Given the description of an element on the screen output the (x, y) to click on. 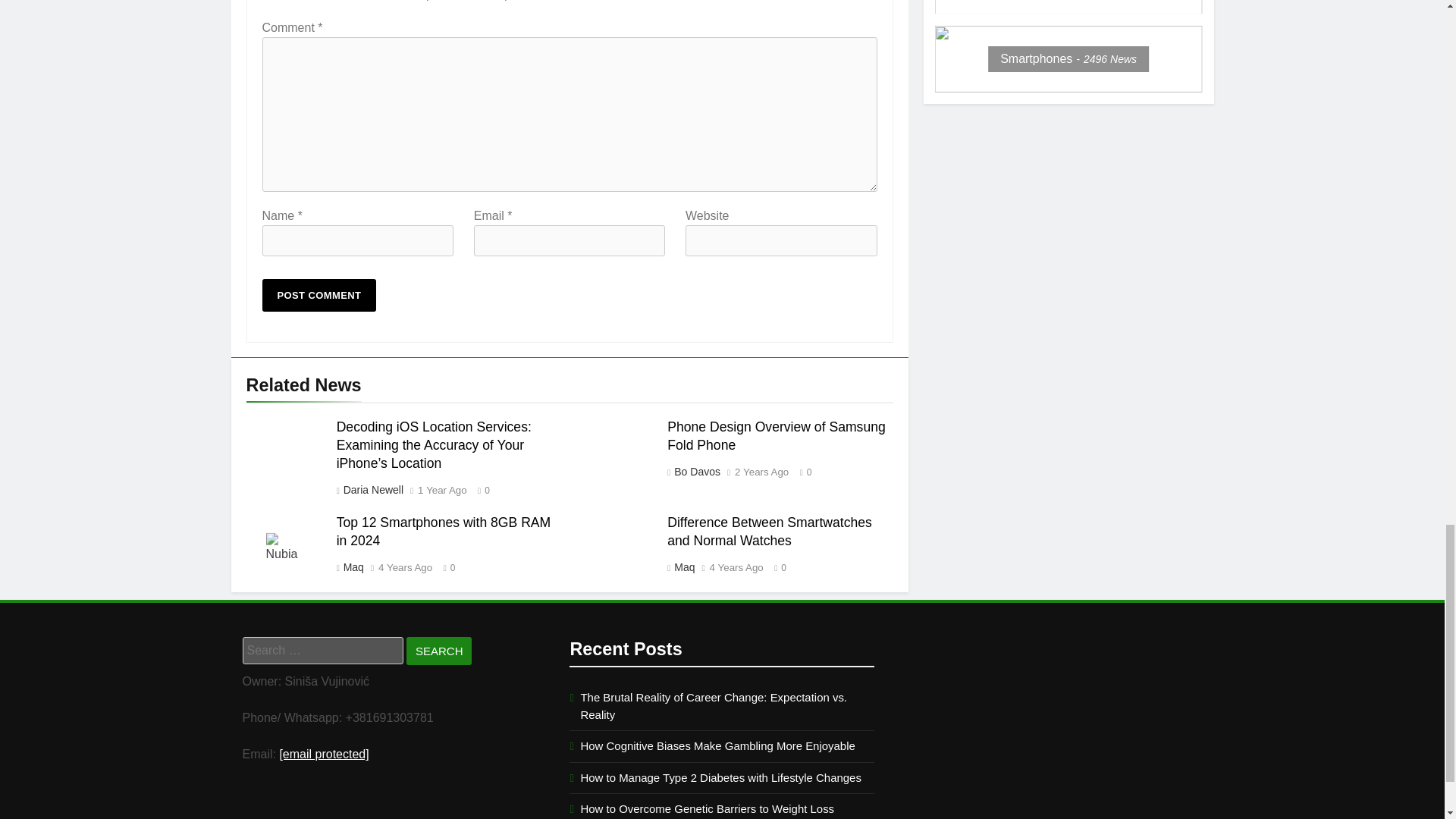
Post Comment (319, 295)
Search (438, 651)
Post Comment (319, 295)
Search (438, 651)
